Given the description of an element on the screen output the (x, y) to click on. 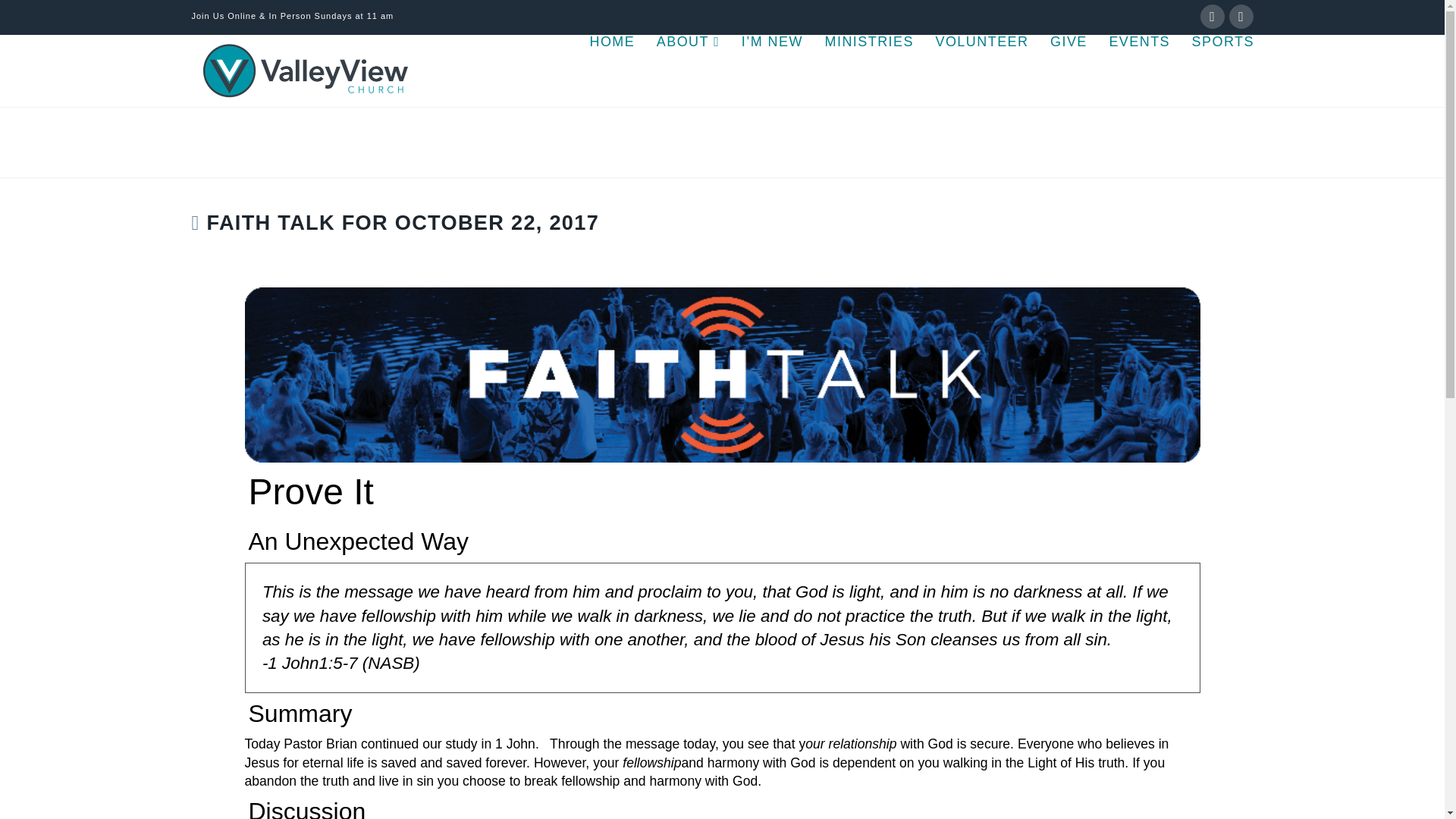
VOLUNTEER (981, 71)
EVENTS (1138, 71)
Facebook (1211, 16)
HOME (611, 71)
MINISTRIES (867, 71)
ABOUT (687, 71)
Instagram (1240, 16)
SPORTS (1216, 71)
